Given the description of an element on the screen output the (x, y) to click on. 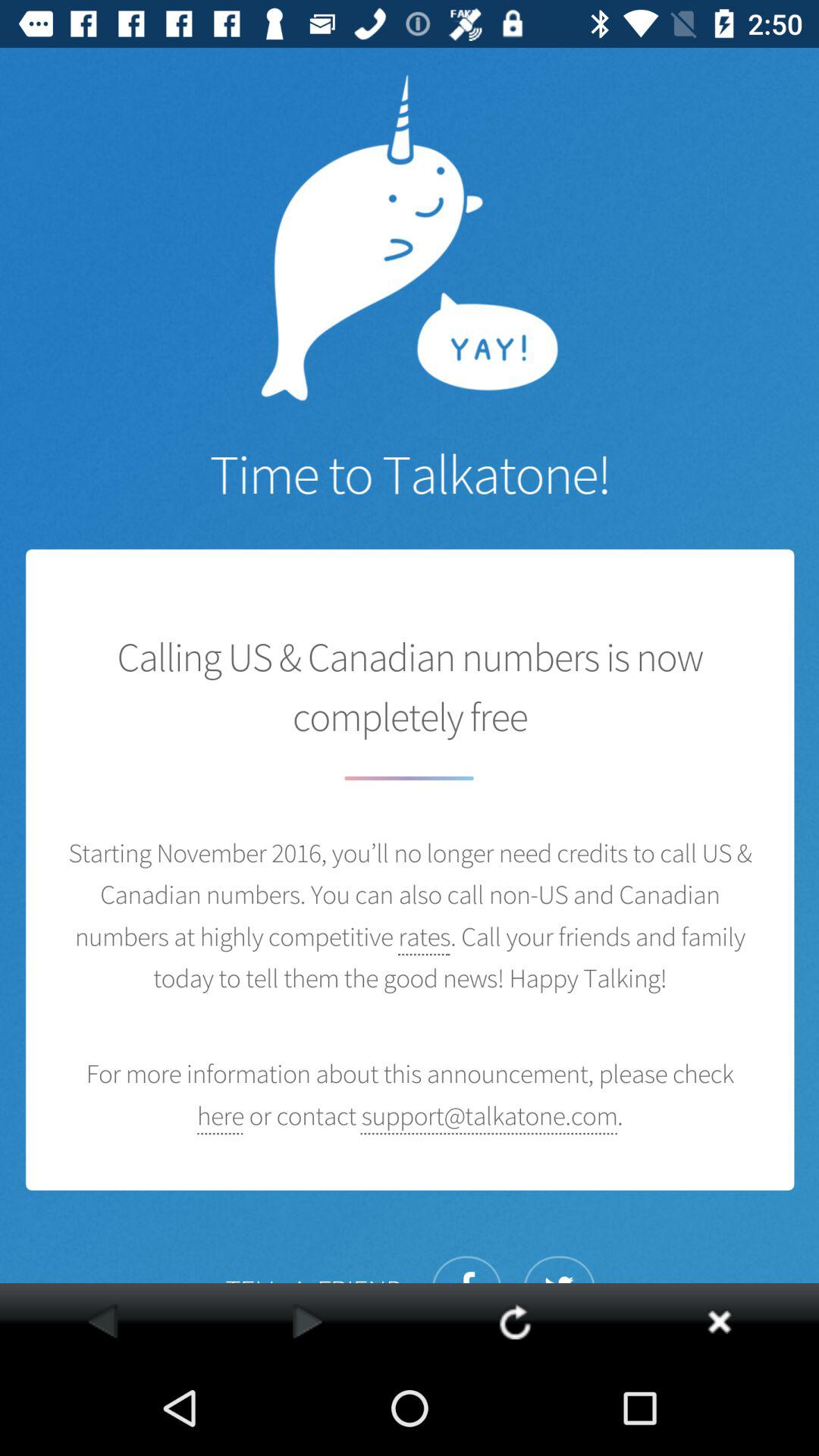
forward button (307, 1321)
